Given the description of an element on the screen output the (x, y) to click on. 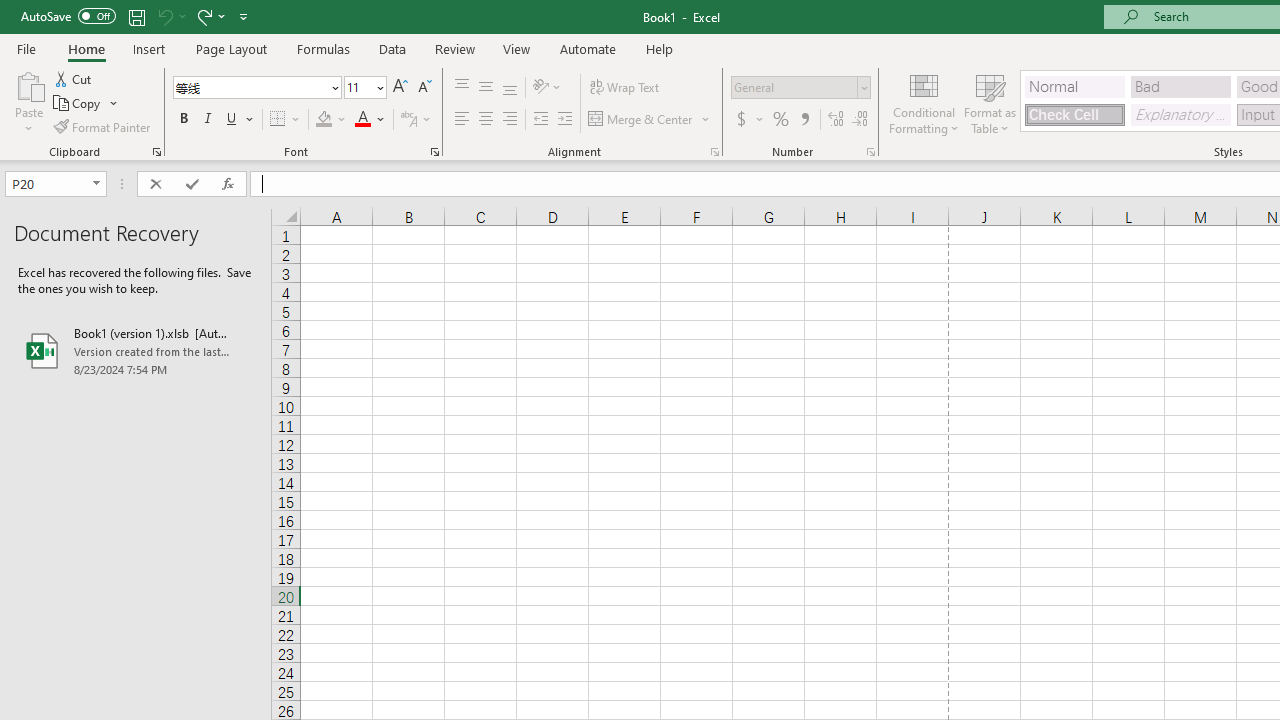
Bottom Border (278, 119)
Accounting Number Format (749, 119)
Font Color RGB(255, 0, 0) (362, 119)
Align Left (461, 119)
Increase Font Size (399, 87)
Align Right (509, 119)
Paste (28, 102)
Check Cell (1074, 114)
Font Size (358, 87)
Font (256, 87)
Top Align (461, 87)
Bad (1180, 86)
Orientation (547, 87)
